Given the description of an element on the screen output the (x, y) to click on. 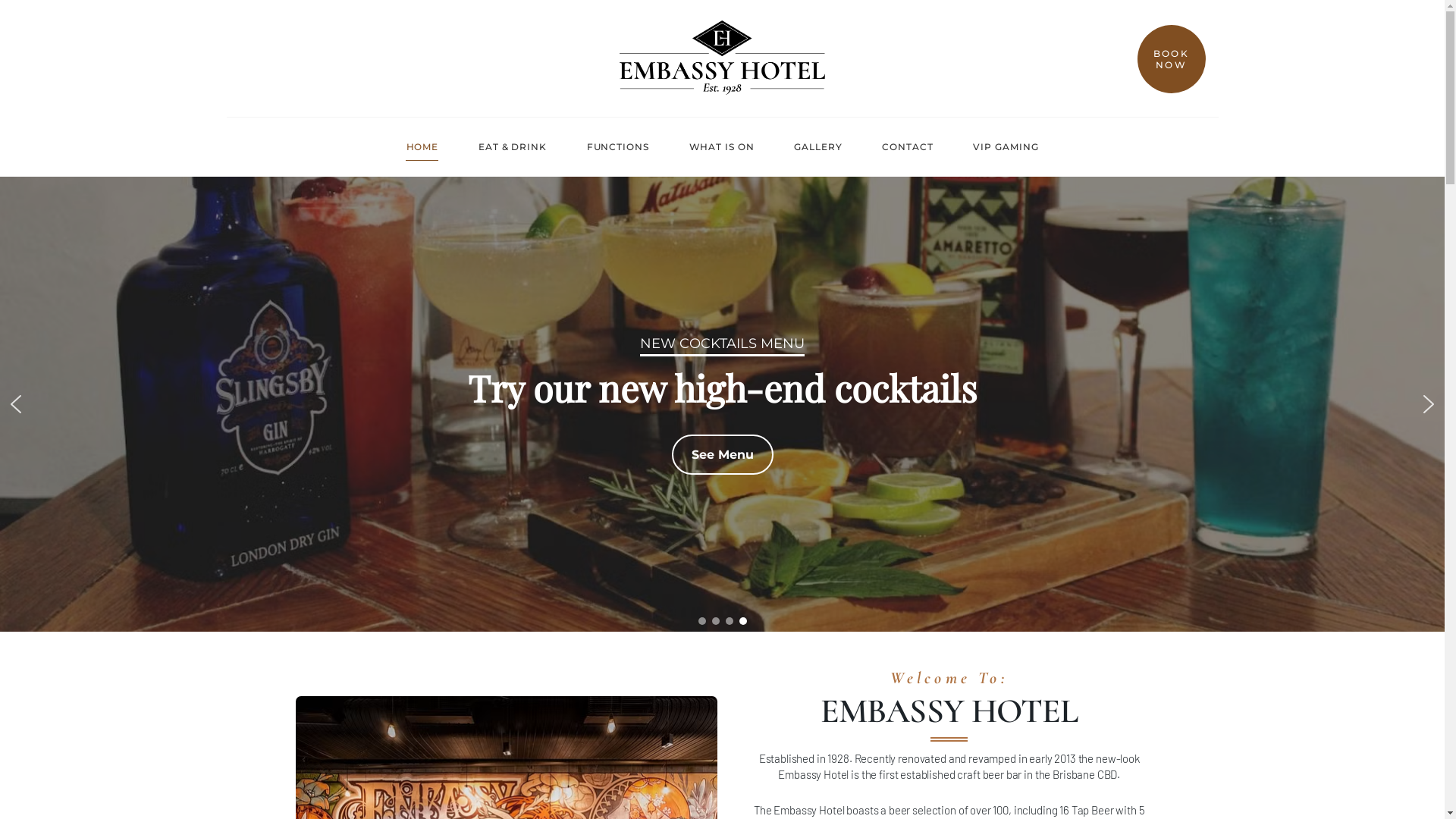
FUNCTIONS Element type: text (617, 146)
EAT & DRINK Element type: text (512, 146)
VIP GAMING Element type: text (1005, 146)
BOOK NOW Element type: text (1171, 59)
HOME Element type: text (421, 146)
WHAT IS ON Element type: text (721, 146)
CONTACT Element type: text (907, 146)
GALLERY Element type: text (818, 146)
See Menu Element type: text (722, 454)
